Given the description of an element on the screen output the (x, y) to click on. 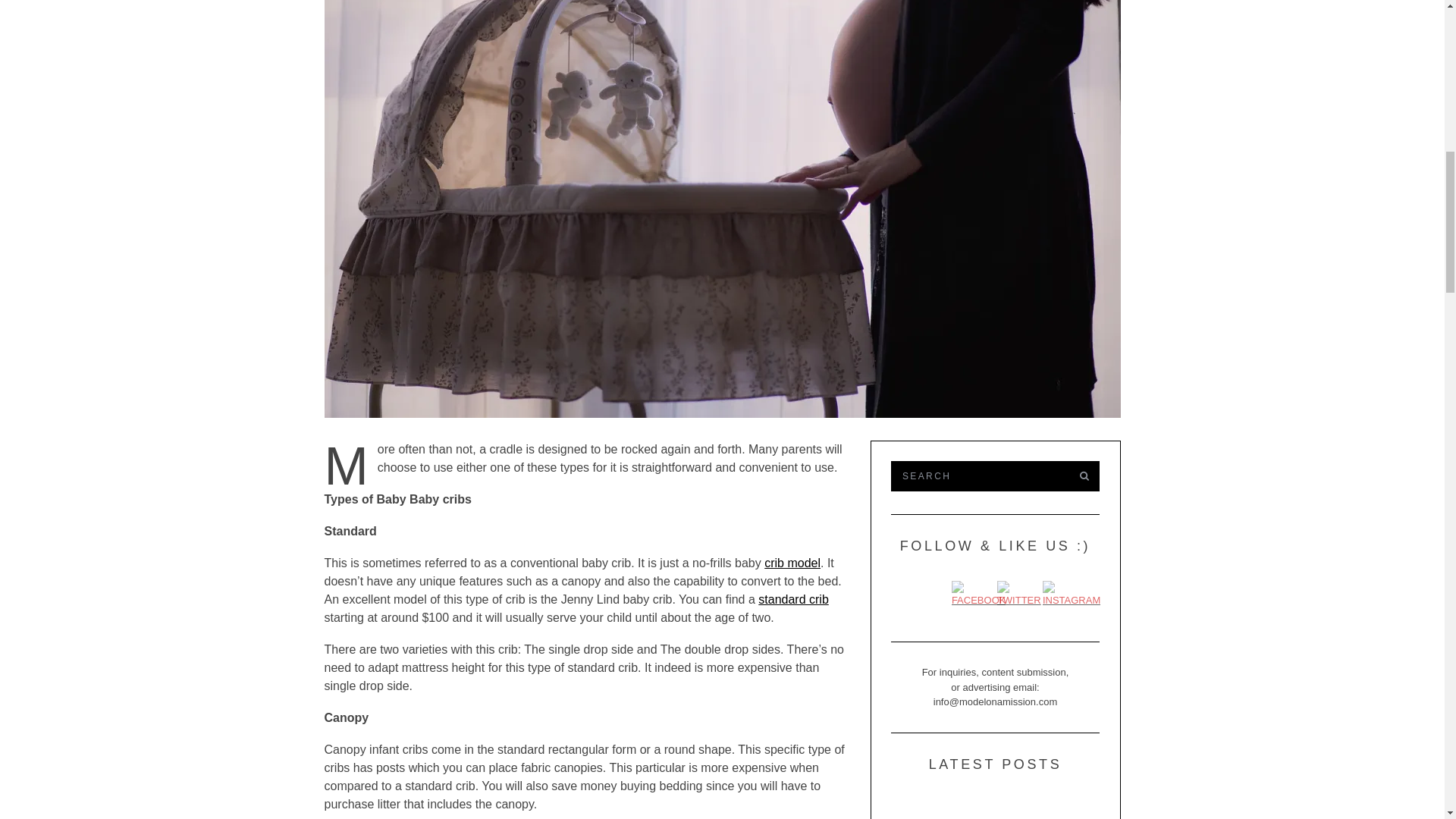
TWITTER (1019, 594)
FACEBOOK (979, 594)
Search (976, 476)
INSTAGRAM (1071, 594)
